Given the description of an element on the screen output the (x, y) to click on. 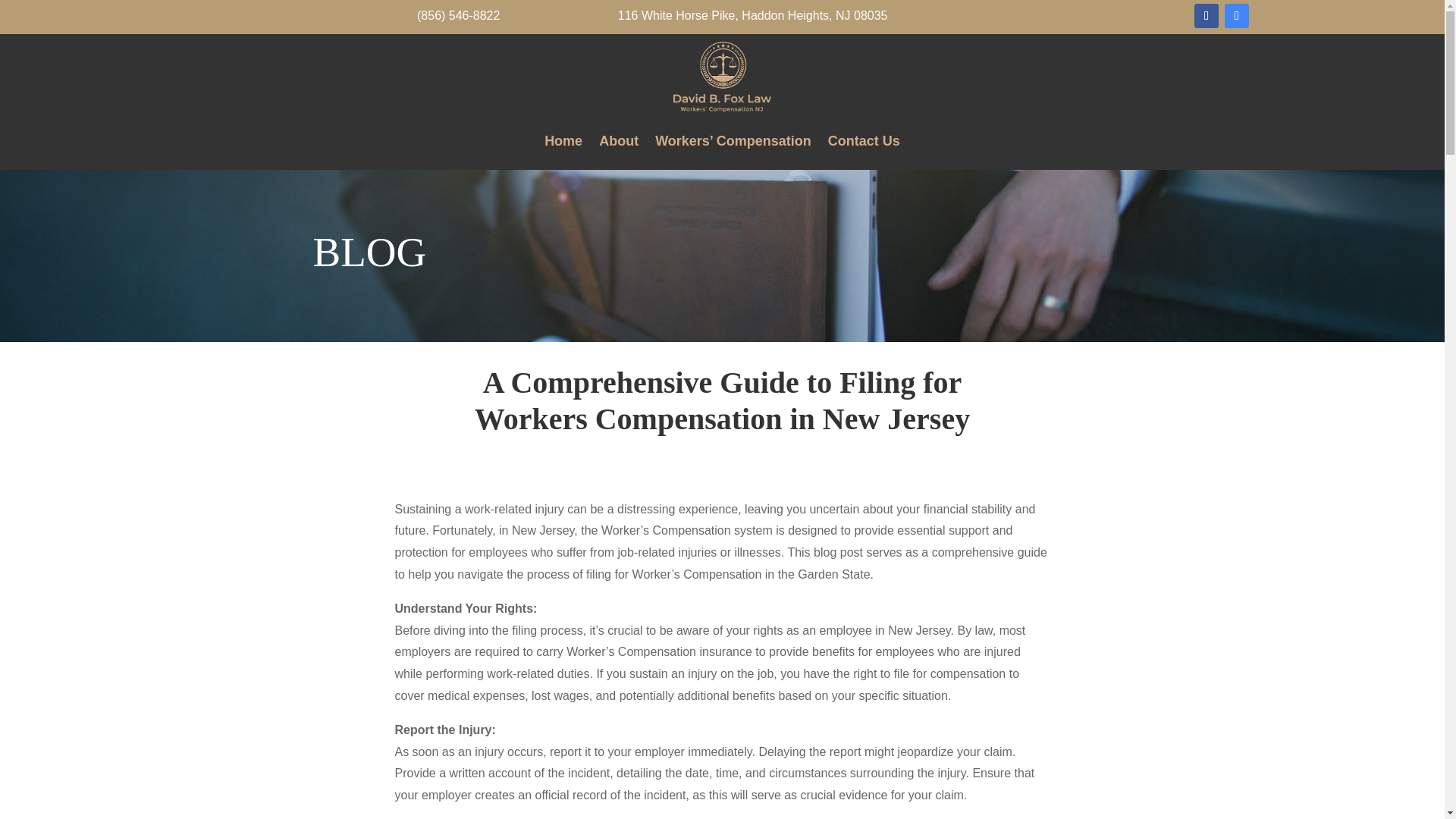
Contact Us (863, 140)
Follow on Facebook (1205, 15)
Follow on Google (1236, 15)
